Given the description of an element on the screen output the (x, y) to click on. 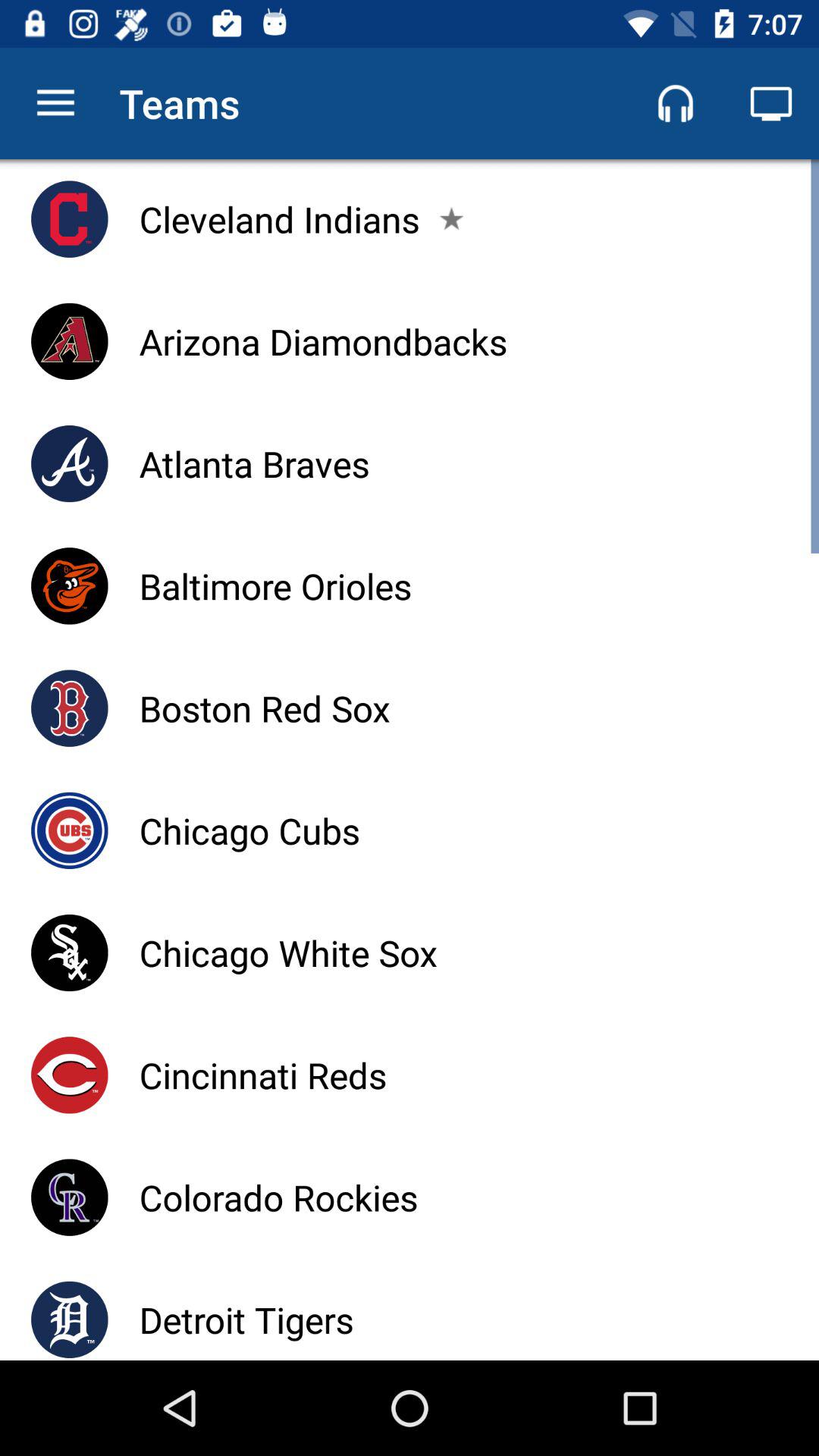
choose baltimore orioles (275, 585)
